Given the description of an element on the screen output the (x, y) to click on. 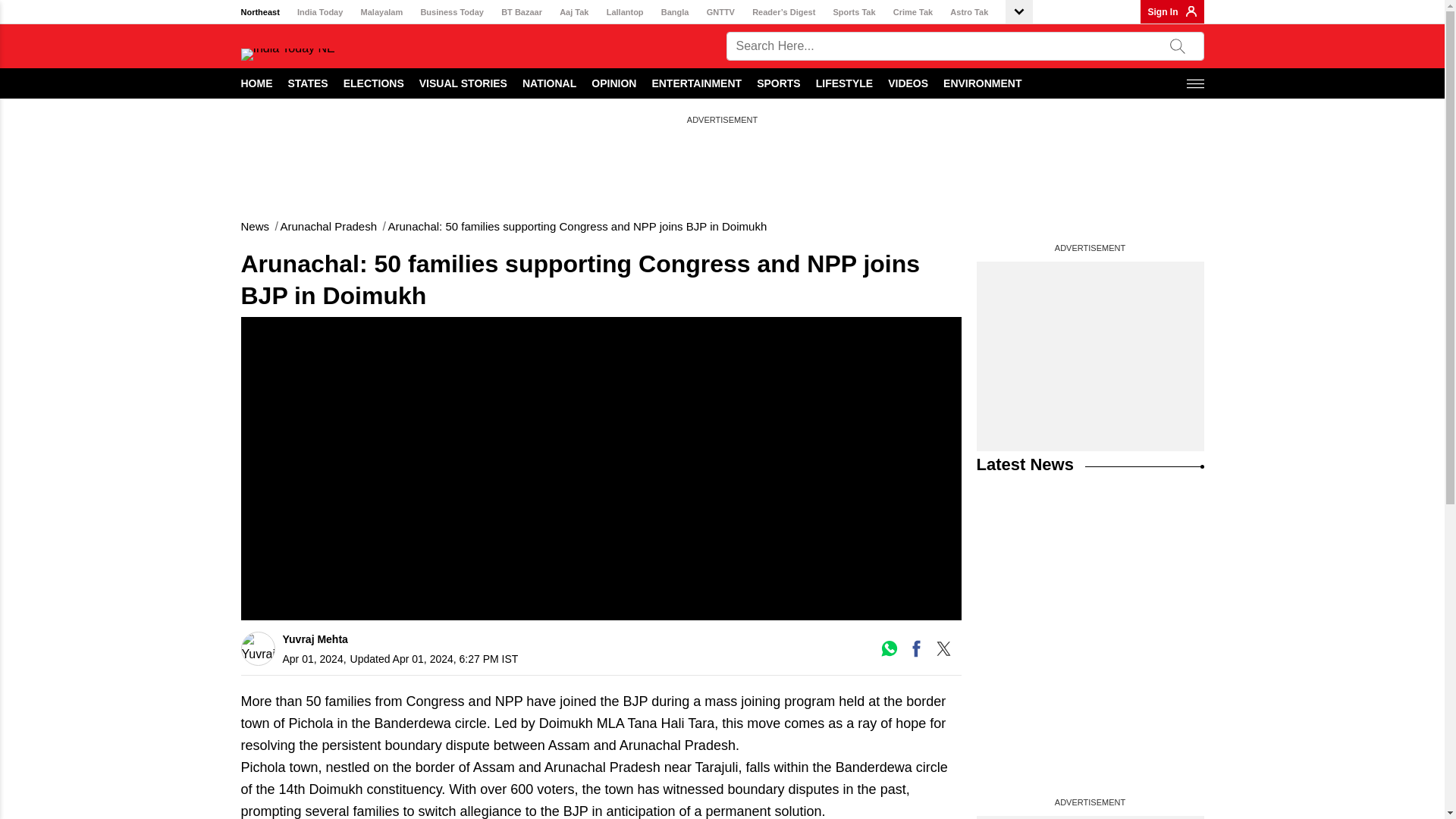
Astro Tak (969, 12)
Malayalam (382, 12)
ENTERTAINMENT (695, 82)
India Today (319, 12)
STATES (308, 82)
Crime Tak (913, 12)
Business Today (451, 12)
Malayalam (382, 12)
BT Bazaar (520, 12)
Bangla (674, 12)
Lallantop (625, 12)
GNTTV (720, 12)
GNTTV (720, 12)
HOME (257, 82)
Lallantop (625, 12)
